Given the description of an element on the screen output the (x, y) to click on. 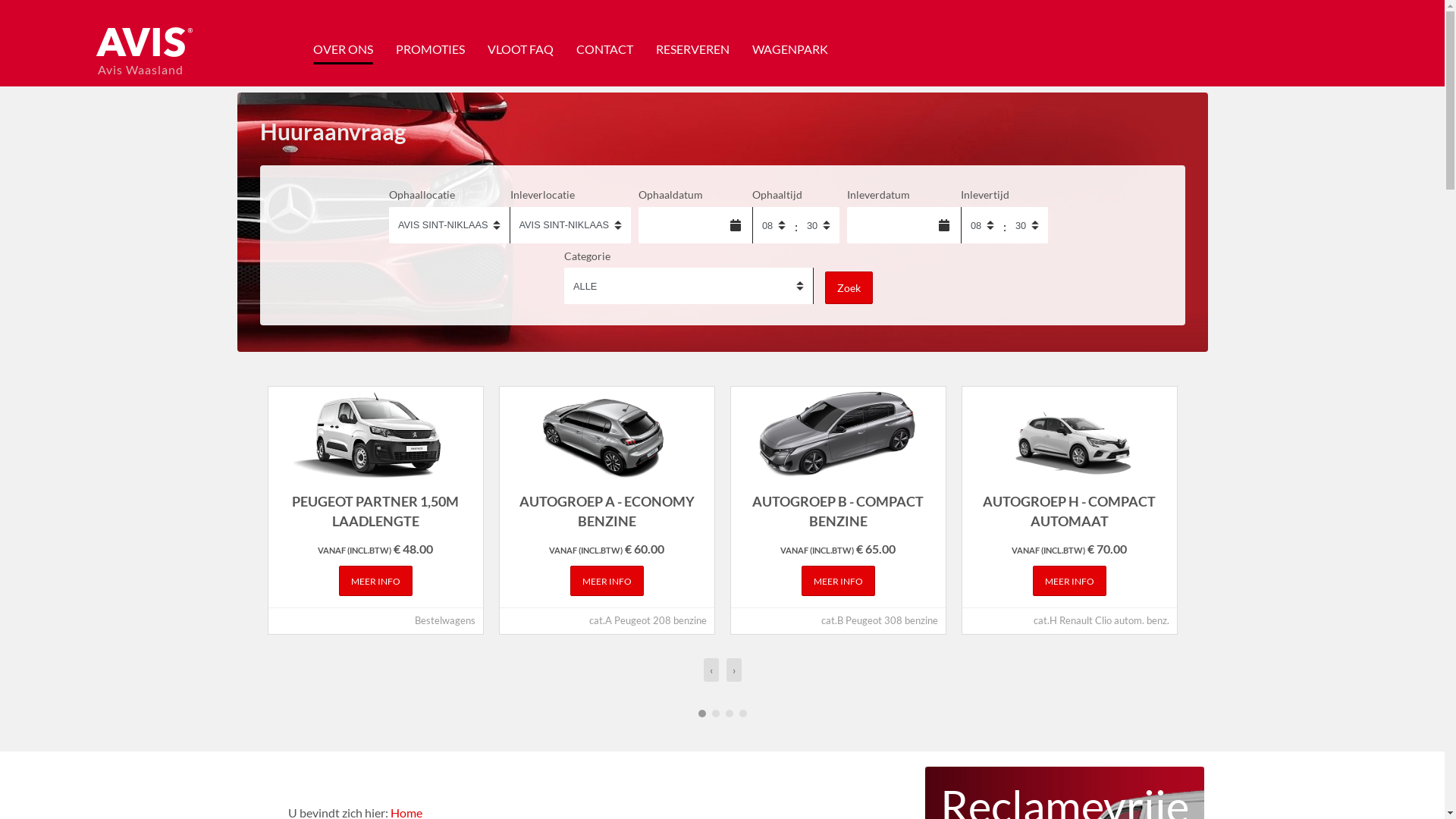
Avis Waasland Element type: text (142, 53)
MEER INFO Element type: text (606, 580)
MEER INFO Element type: text (837, 580)
MEER INFO Element type: text (374, 580)
WAGENPARK Element type: text (790, 48)
VLOOT FAQ Element type: text (519, 48)
Zoek Element type: text (848, 287)
RESERVEREN Element type: text (691, 48)
OVER ONS Element type: text (342, 48)
MEER INFO Element type: text (1069, 580)
PROMOTIES Element type: text (429, 48)
CONTACT Element type: text (604, 48)
